Given the description of an element on the screen output the (x, y) to click on. 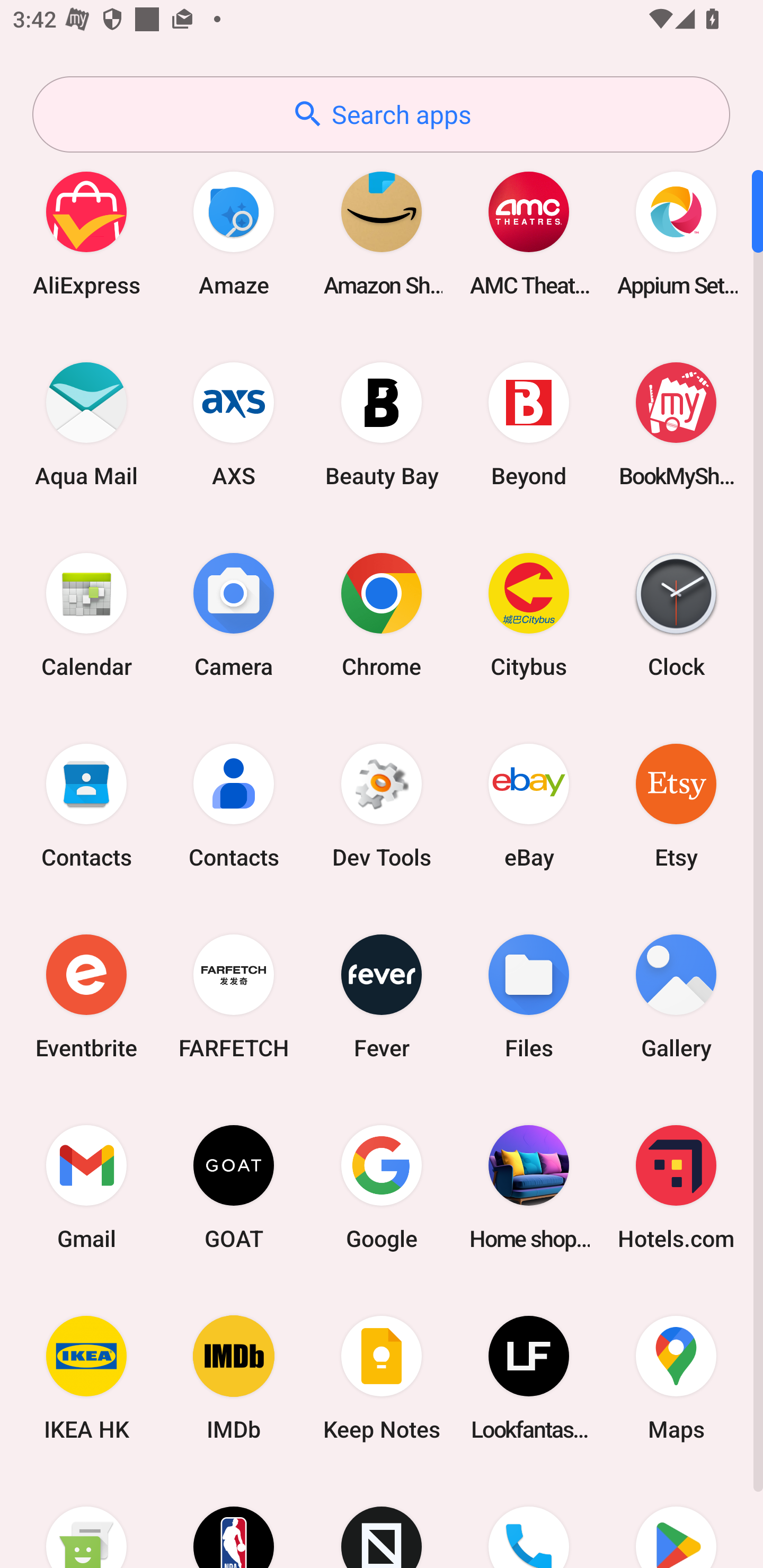
  Search apps (381, 114)
AliExpress (86, 233)
Amaze (233, 233)
Amazon Shopping (381, 233)
AMC Theatres (528, 233)
Appium Settings (676, 233)
Aqua Mail (86, 424)
AXS (233, 424)
Beauty Bay (381, 424)
Beyond (528, 424)
BookMyShow (676, 424)
Calendar (86, 614)
Camera (233, 614)
Chrome (381, 614)
Citybus (528, 614)
Clock (676, 614)
Contacts (86, 805)
Contacts (233, 805)
Dev Tools (381, 805)
eBay (528, 805)
Etsy (676, 805)
Eventbrite (86, 996)
FARFETCH (233, 996)
Fever (381, 996)
Files (528, 996)
Gallery (676, 996)
Gmail (86, 1186)
GOAT (233, 1186)
Google (381, 1186)
Home shopping (528, 1186)
Hotels.com (676, 1186)
IKEA HK (86, 1377)
IMDb (233, 1377)
Keep Notes (381, 1377)
Lookfantastic (528, 1377)
Maps (676, 1377)
